Given the description of an element on the screen output the (x, y) to click on. 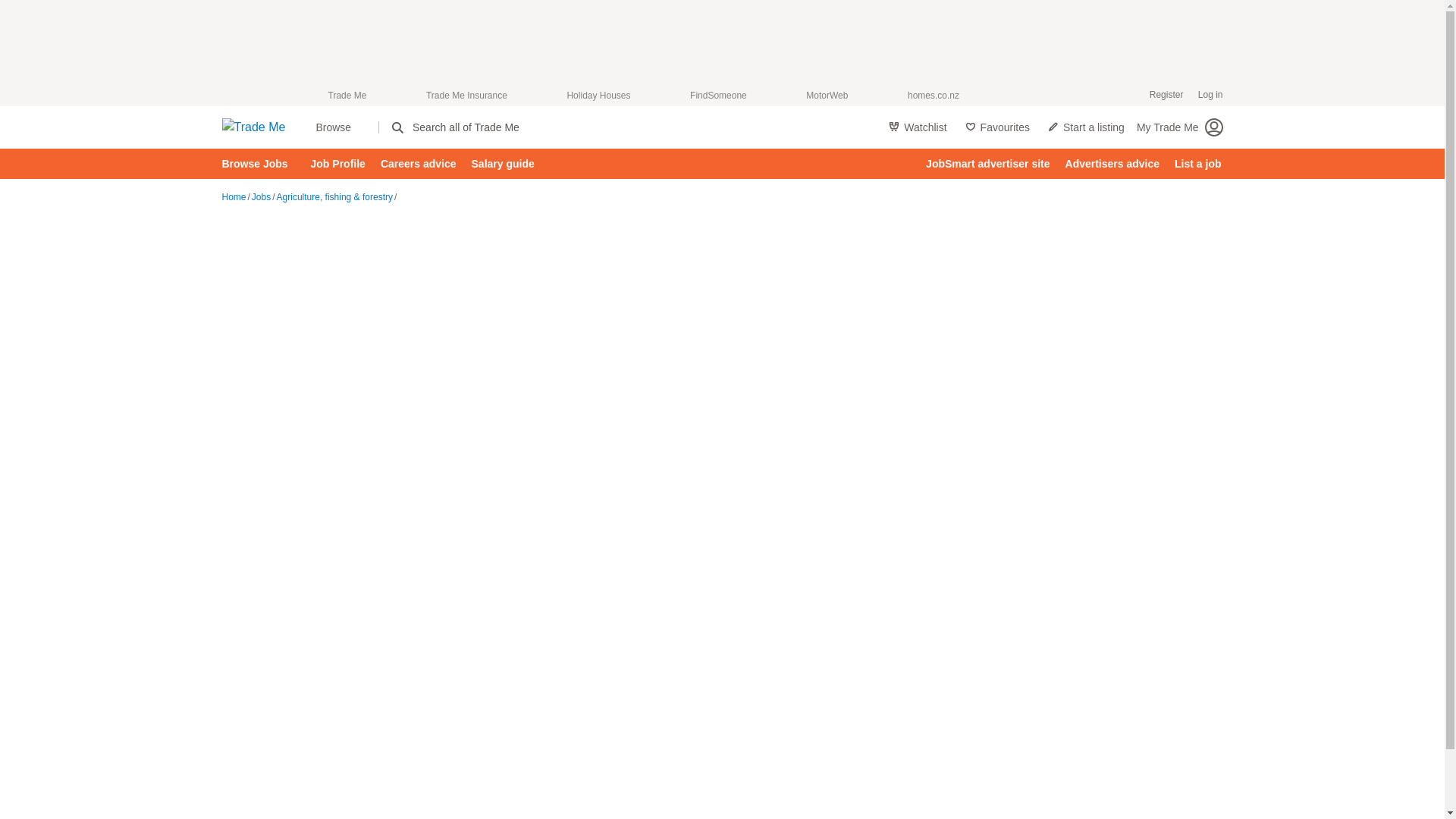
Holiday Houses (598, 95)
Profile image for not logged in member (1213, 126)
Favourites (997, 127)
Start a listing (1086, 127)
FindSomeone (718, 95)
Jobs (260, 196)
Watchlist (917, 127)
JobSmart advertiser site (987, 163)
Browse (337, 126)
Job Profile (337, 163)
